Given the description of an element on the screen output the (x, y) to click on. 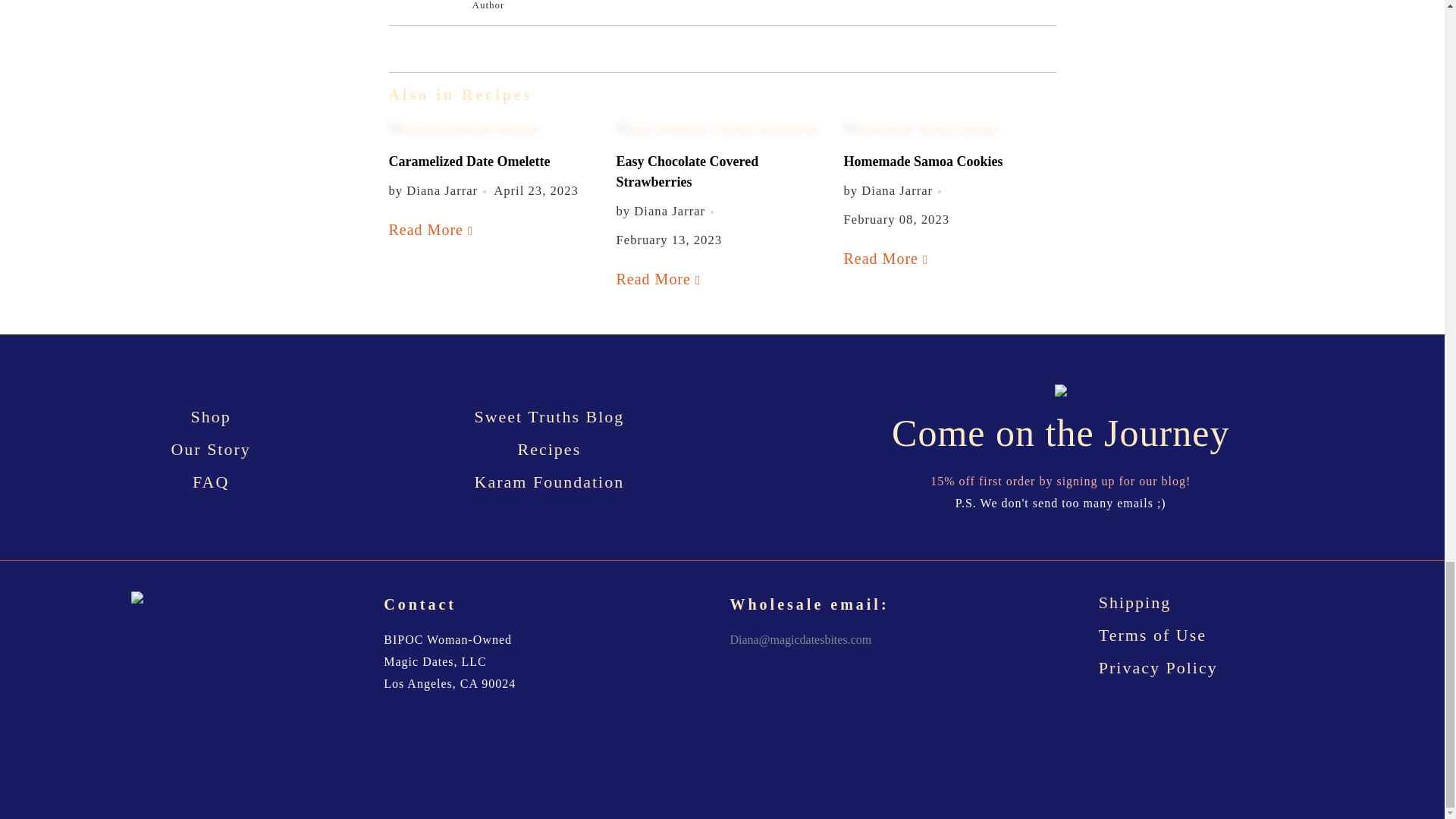
Homemade Samoa Cookies (923, 160)
Easy Chocolate Covered Strawberries (686, 171)
Caramelized Date Omelette (493, 129)
Easy Chocolate Covered Strawberries (659, 279)
Caramelized Date Omelette (432, 229)
Homemade Samoa Cookies (886, 258)
Easy Chocolate Covered Strawberries (721, 129)
Homemade Samoa Cookies (949, 129)
Caramelized Date Omelette (469, 160)
